Given the description of an element on the screen output the (x, y) to click on. 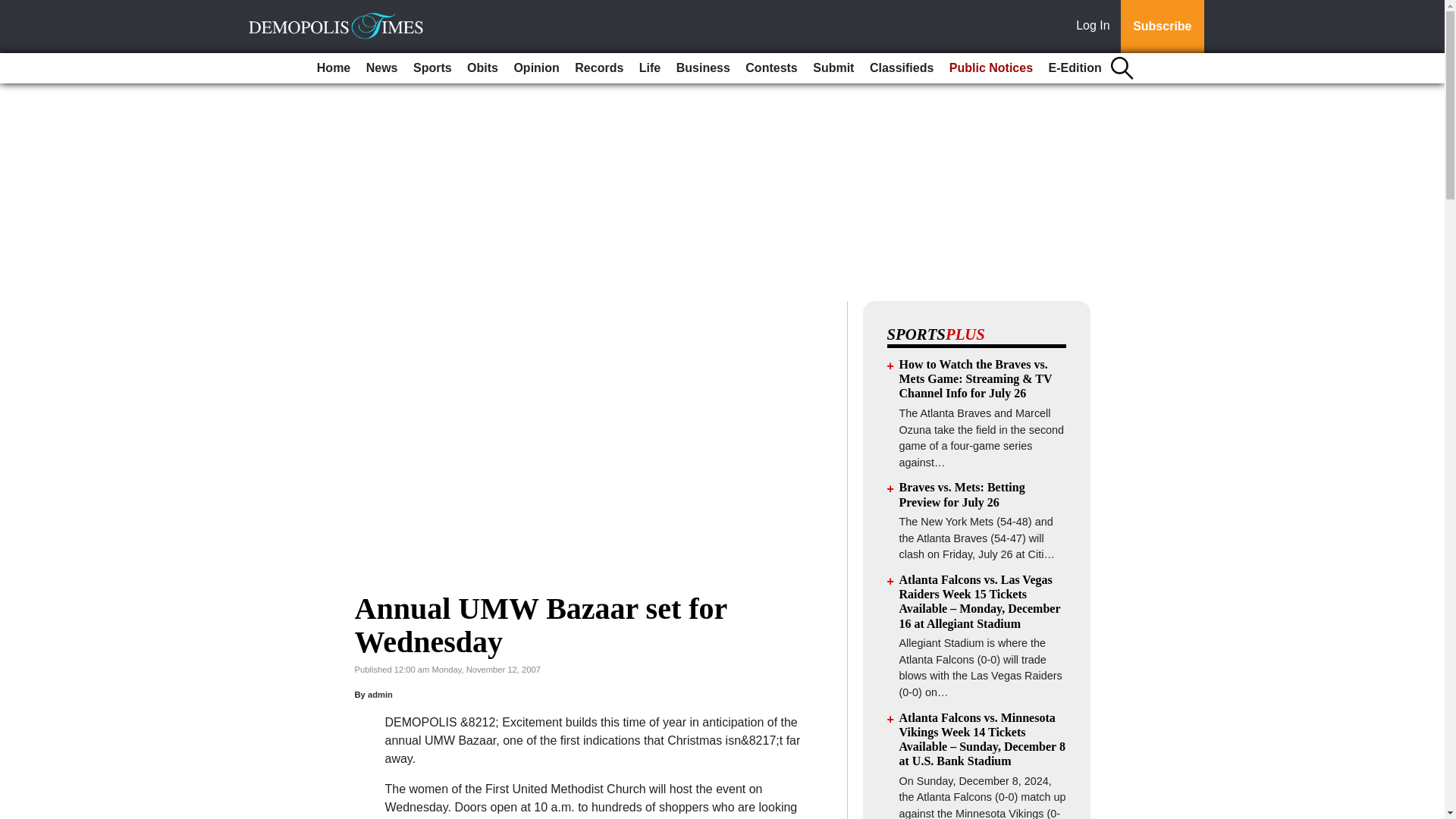
Submit (833, 68)
Life (649, 68)
Public Notices (991, 68)
Obits (482, 68)
Business (702, 68)
Contests (771, 68)
Classifieds (901, 68)
Opinion (535, 68)
E-Edition (1075, 68)
Sports (432, 68)
Log In (1095, 26)
Braves vs. Mets: Betting Preview for July 26 (962, 493)
Subscribe (1162, 26)
admin (380, 694)
News (381, 68)
